Given the description of an element on the screen output the (x, y) to click on. 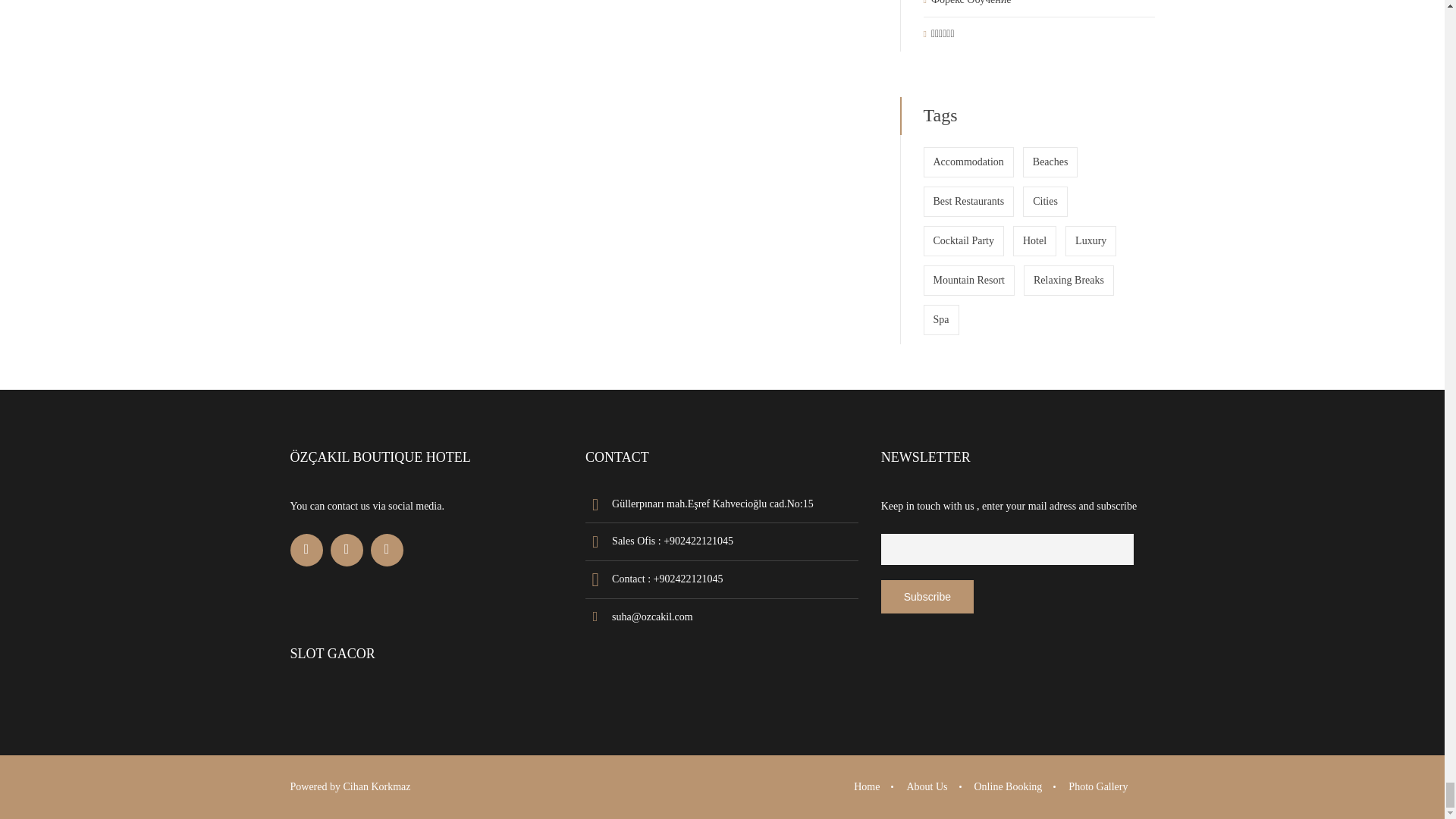
Subscribe (927, 596)
